Given the description of an element on the screen output the (x, y) to click on. 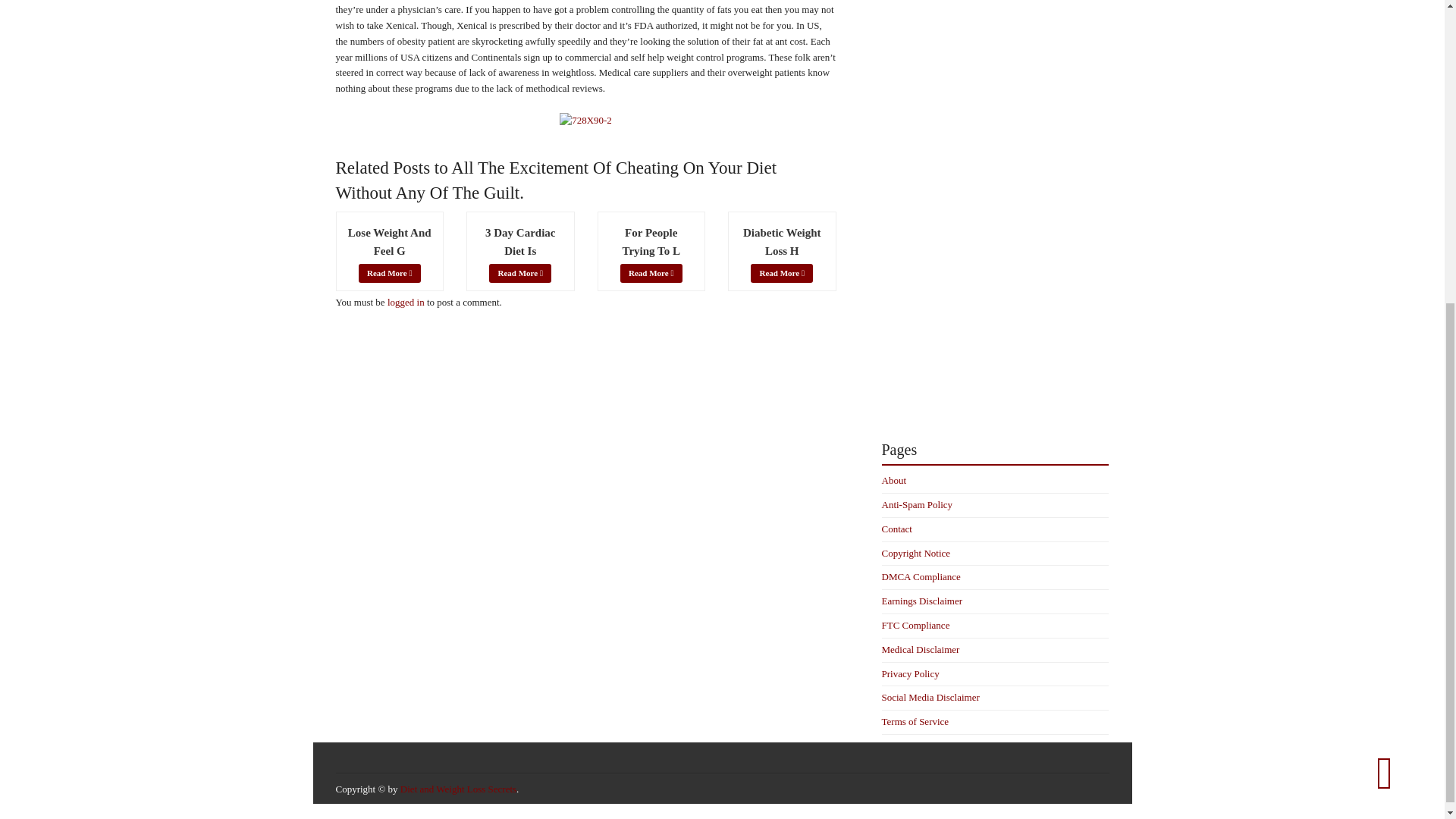
Read More (781, 272)
For People Trying To L (651, 241)
3 Day Cardiac Diet Is (520, 241)
Read More (520, 272)
DMCA Compliance (919, 576)
For People Trying To Lose Weight Here Are Several Tips (651, 241)
logged in (406, 301)
Read More (651, 272)
Lose Weight And Feel G (388, 241)
FTC Compliance (914, 624)
Diabetic Weight Loss H (781, 241)
Copyright Notice (915, 552)
Diabetic Weight Loss Help (781, 241)
Read More (389, 272)
